Given the description of an element on the screen output the (x, y) to click on. 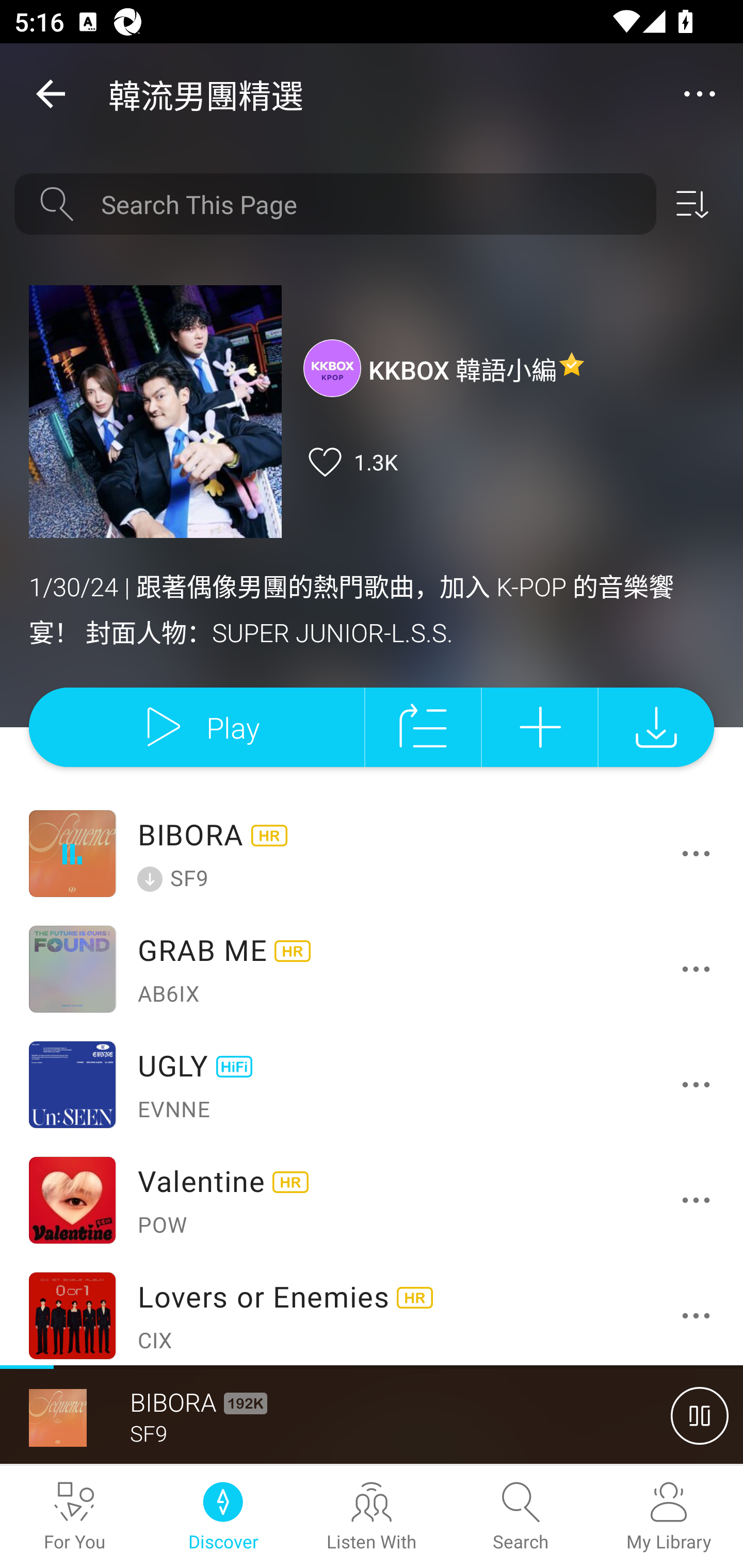
overflow (699, 93)
Search This Page (371, 204)
KKBOX 韓語小編 text_curator_name (444, 367)
1.3K button_collection (350, 462)
Play (196, 726)
add to queue (422, 726)
加入至歌單 (539, 726)
下載歌曲至手機 (656, 726)
BIBORA 已下載 SF9 更多操作選項 (371, 853)
更多操作選項 (699, 853)
GRAB ME AB6IX 更多操作選項 (371, 969)
更多操作選項 (699, 968)
UGLY EVNNE 更多操作選項 (371, 1085)
更多操作選項 (699, 1084)
Valentine POW 更多操作選項 (371, 1200)
更多操作選項 (699, 1200)
Lovers or Enemies CIX 更多操作選項 (371, 1311)
更多操作選項 (699, 1315)
暫停播放 (699, 1415)
For You (74, 1517)
Discover (222, 1517)
Listen With (371, 1517)
Search (519, 1517)
My Library (668, 1517)
